Given the description of an element on the screen output the (x, y) to click on. 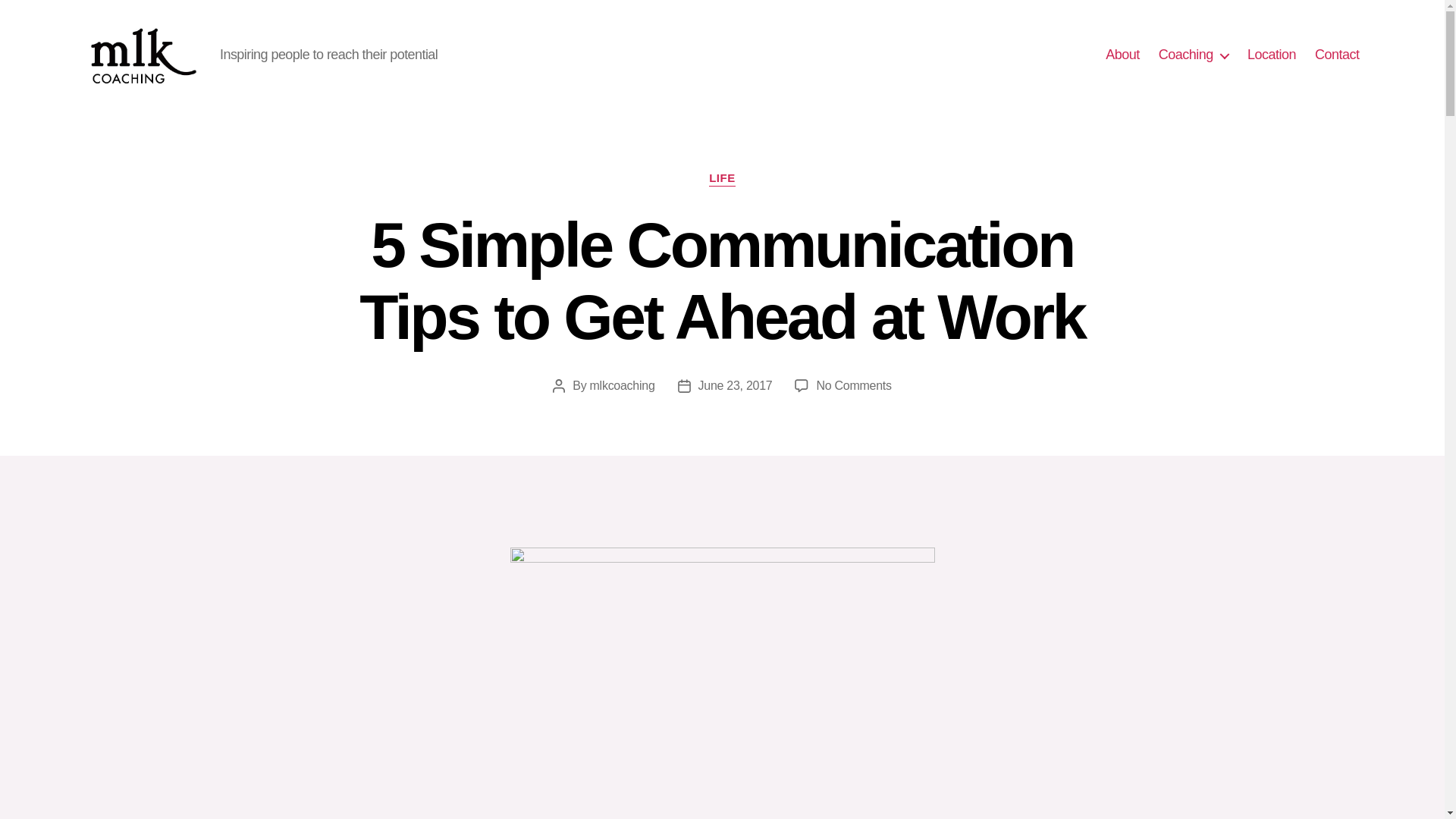
mlkcoaching (622, 385)
June 23, 2017 (735, 385)
Coaching (1193, 54)
Location (1271, 54)
LIFE (722, 178)
About (1122, 54)
Contact (1336, 54)
